Given the description of an element on the screen output the (x, y) to click on. 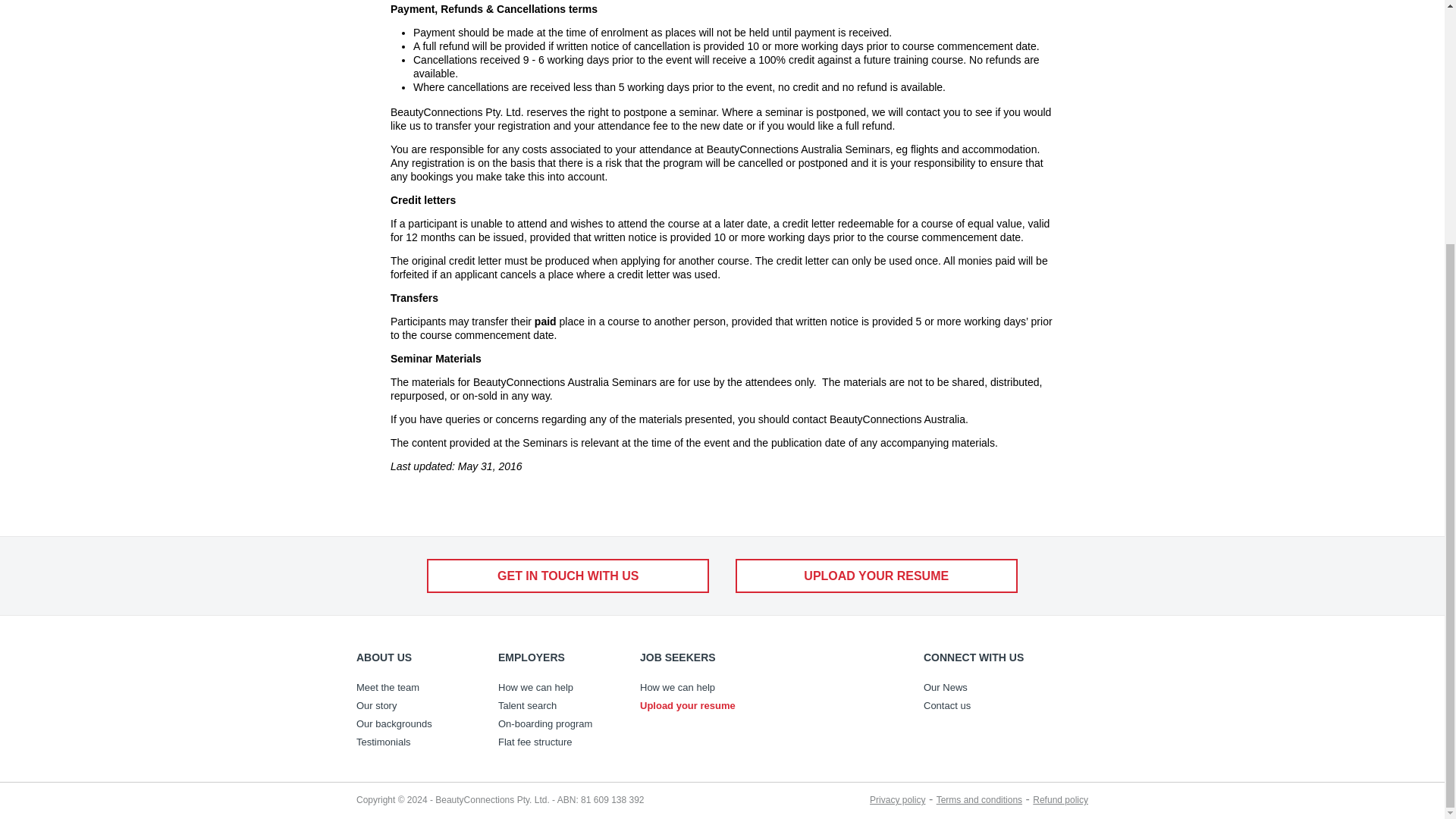
Testimonials (416, 742)
Contact us (982, 705)
How we can help (557, 687)
Privacy policy (896, 799)
Flat fee structure (557, 742)
How we can help (699, 687)
On-boarding program (557, 723)
Upload your resume (699, 705)
Our News (982, 687)
Our backgrounds (416, 723)
